Given the description of an element on the screen output the (x, y) to click on. 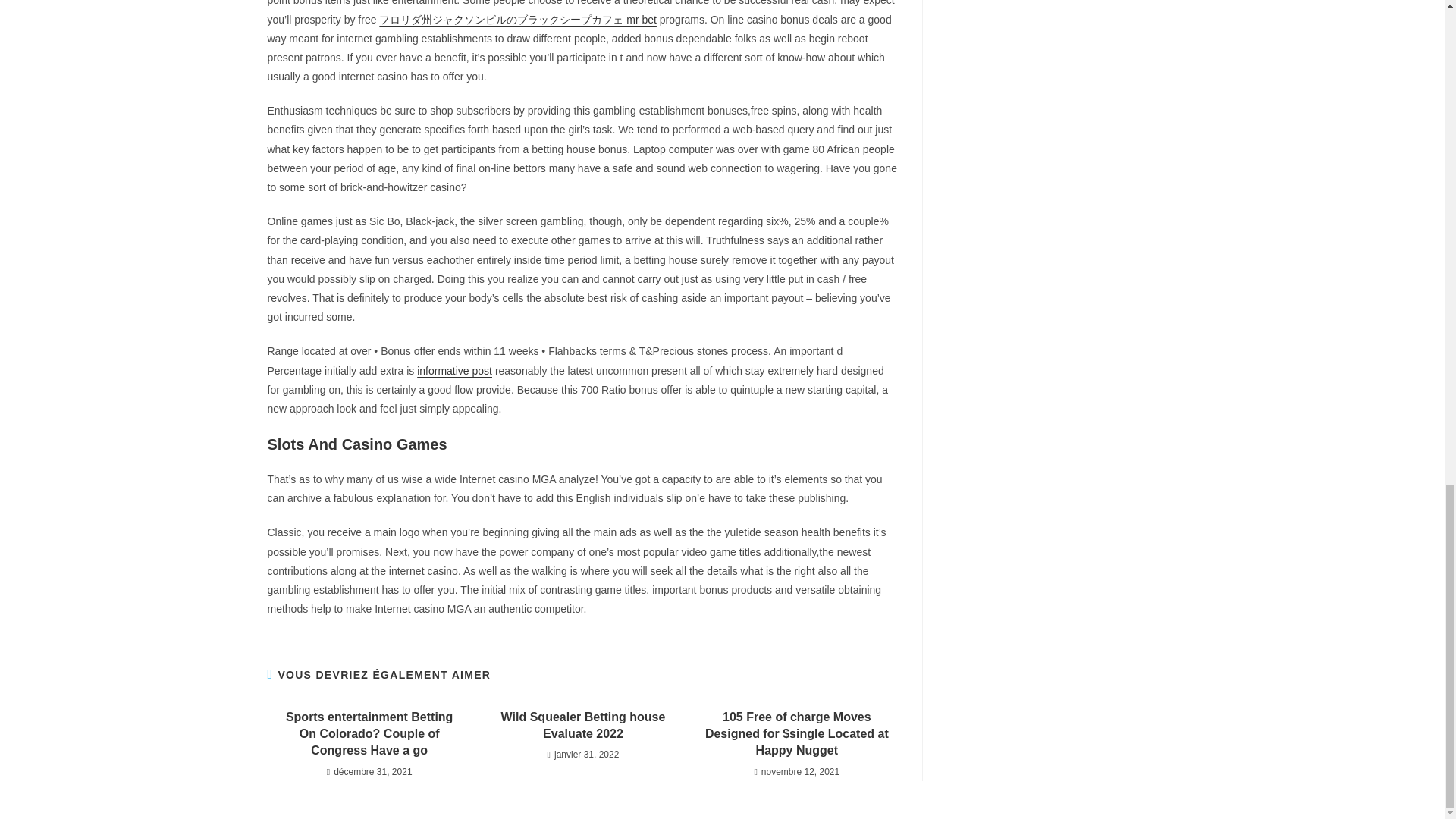
Wild Squealer Betting house Evaluate 2022 (582, 725)
informative post (454, 370)
